Given the description of an element on the screen output the (x, y) to click on. 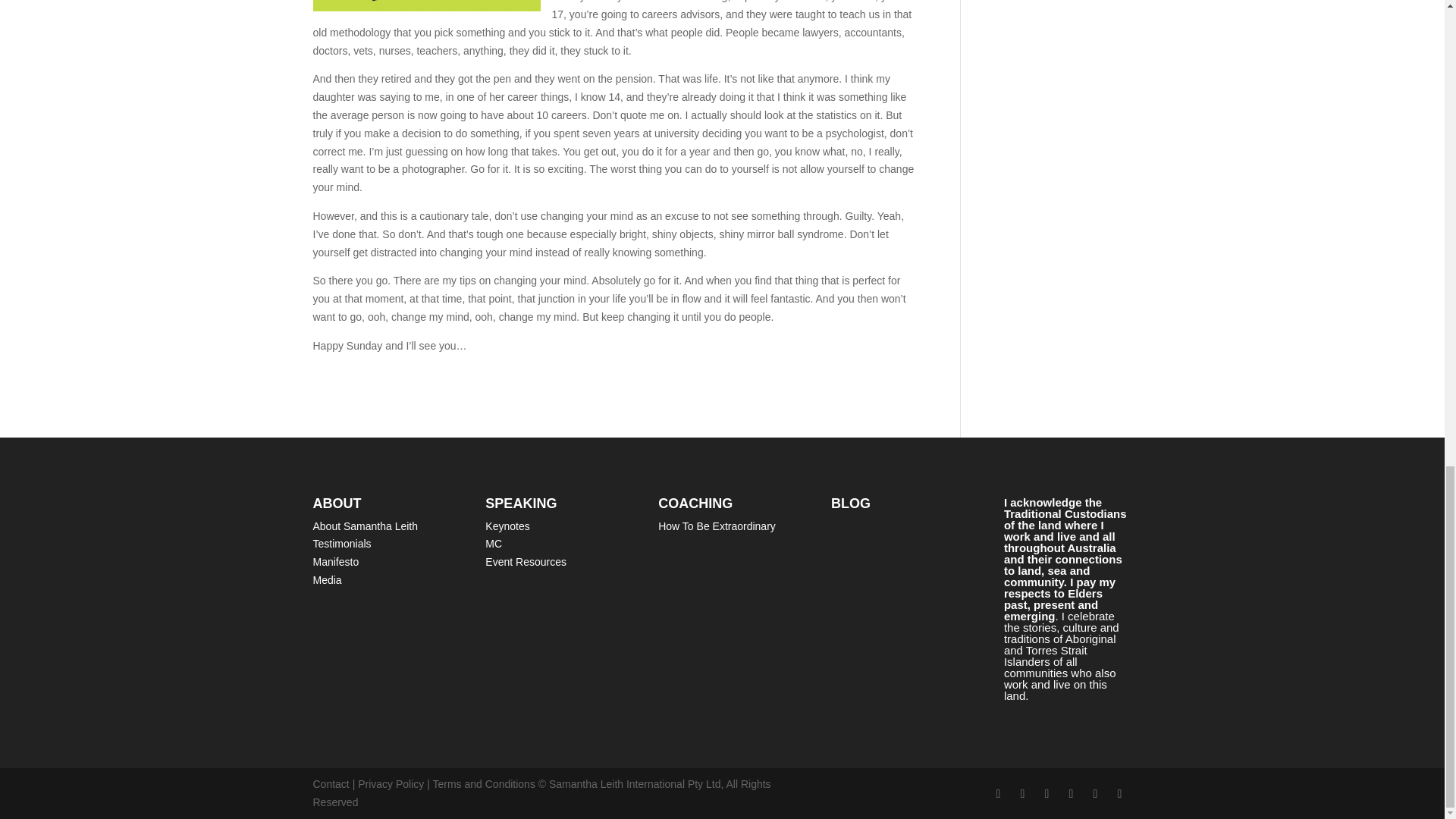
Contact Us (331, 784)
Follow on Facebook (997, 793)
Terms and Conditions  (483, 784)
Privacy Policy  (390, 784)
Follow on X (1021, 793)
